Given the description of an element on the screen output the (x, y) to click on. 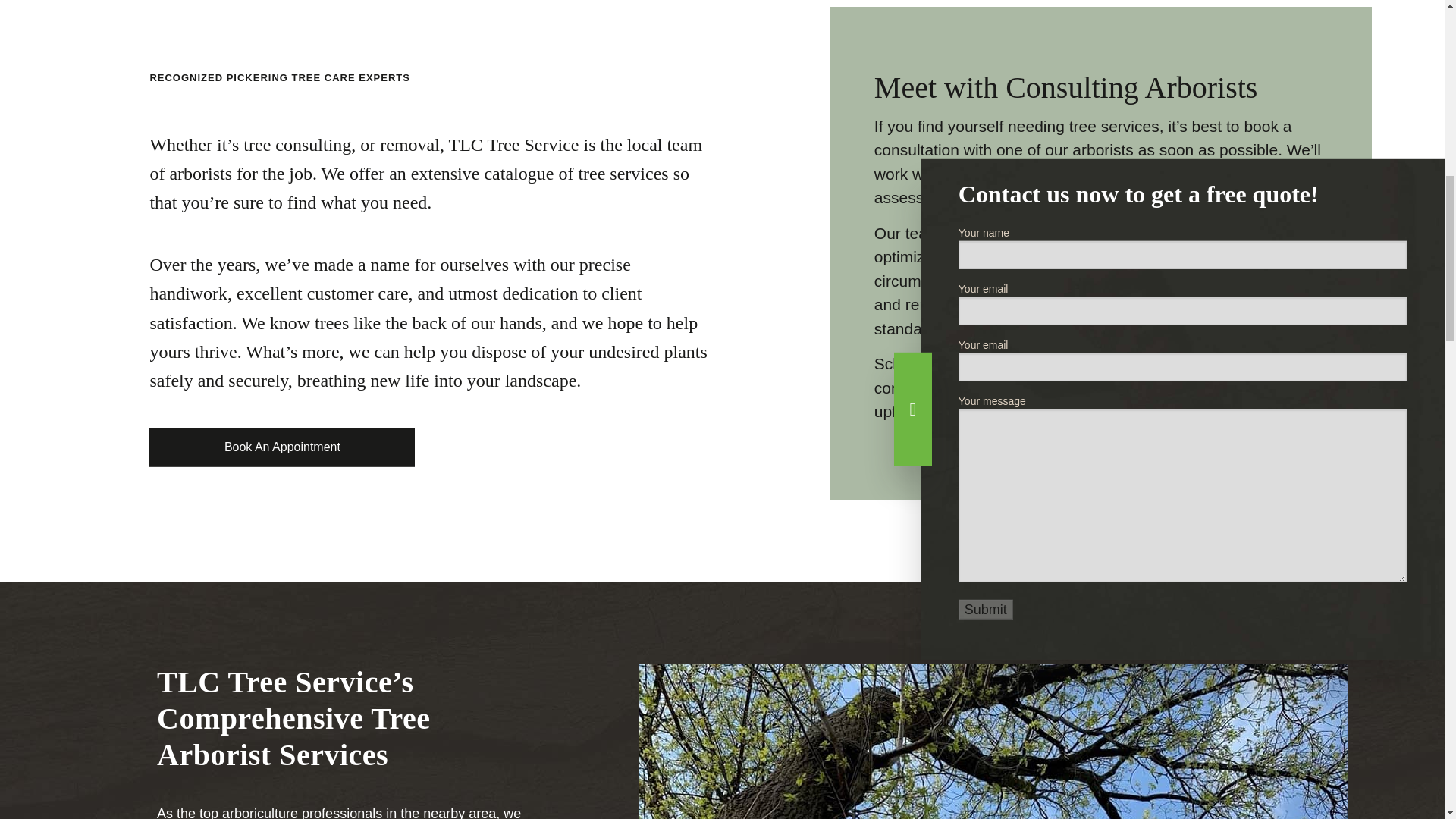
Book An Appointment (281, 447)
